Given the description of an element on the screen output the (x, y) to click on. 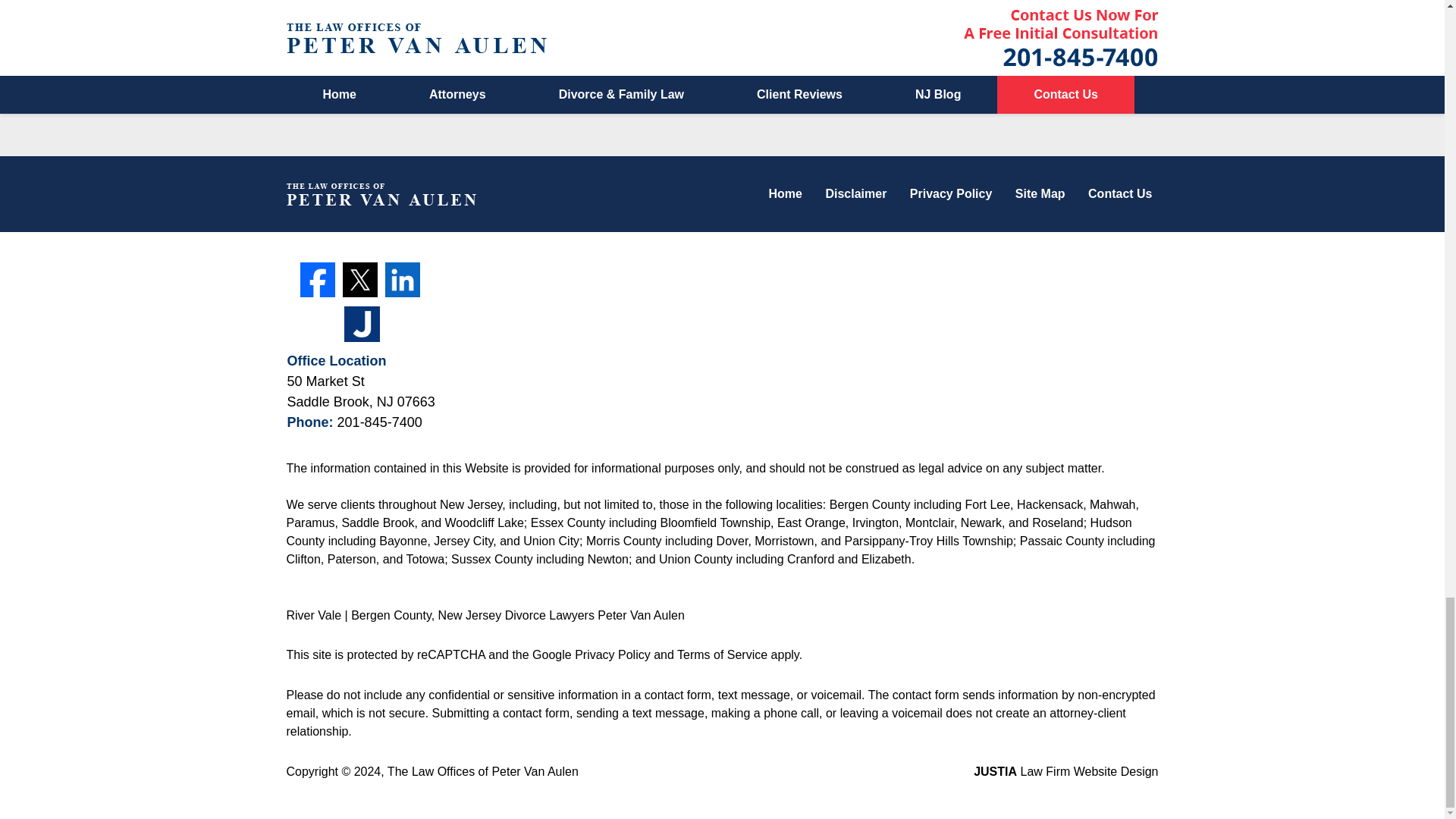
Twitter (359, 279)
Submit a Law Firm Client Review (722, 72)
LinkedIn (402, 279)
Justia (360, 323)
Facebook (316, 279)
VIEW MORE (721, 13)
